Given the description of an element on the screen output the (x, y) to click on. 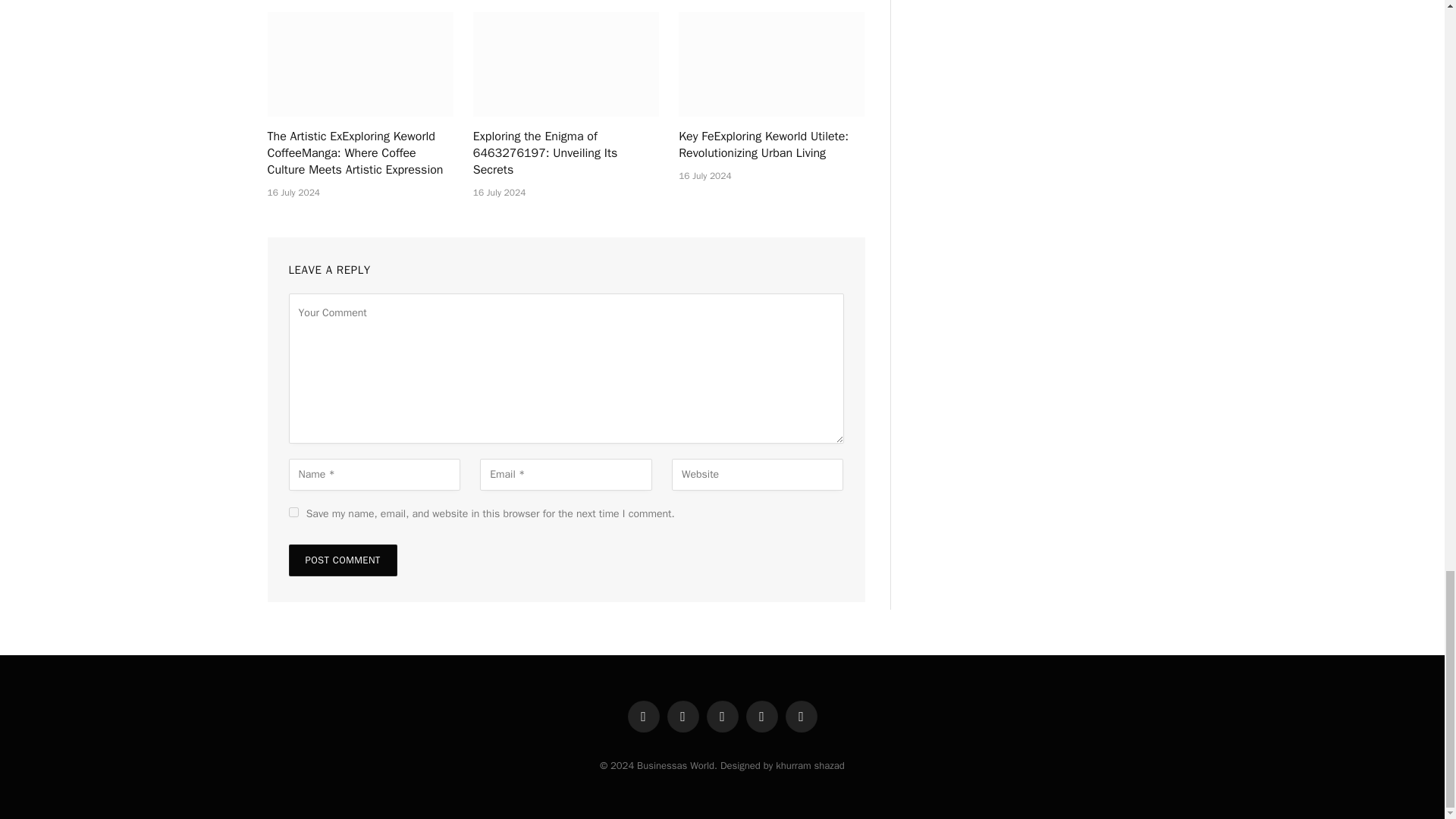
Post Comment (342, 560)
yes (293, 511)
